Given the description of an element on the screen output the (x, y) to click on. 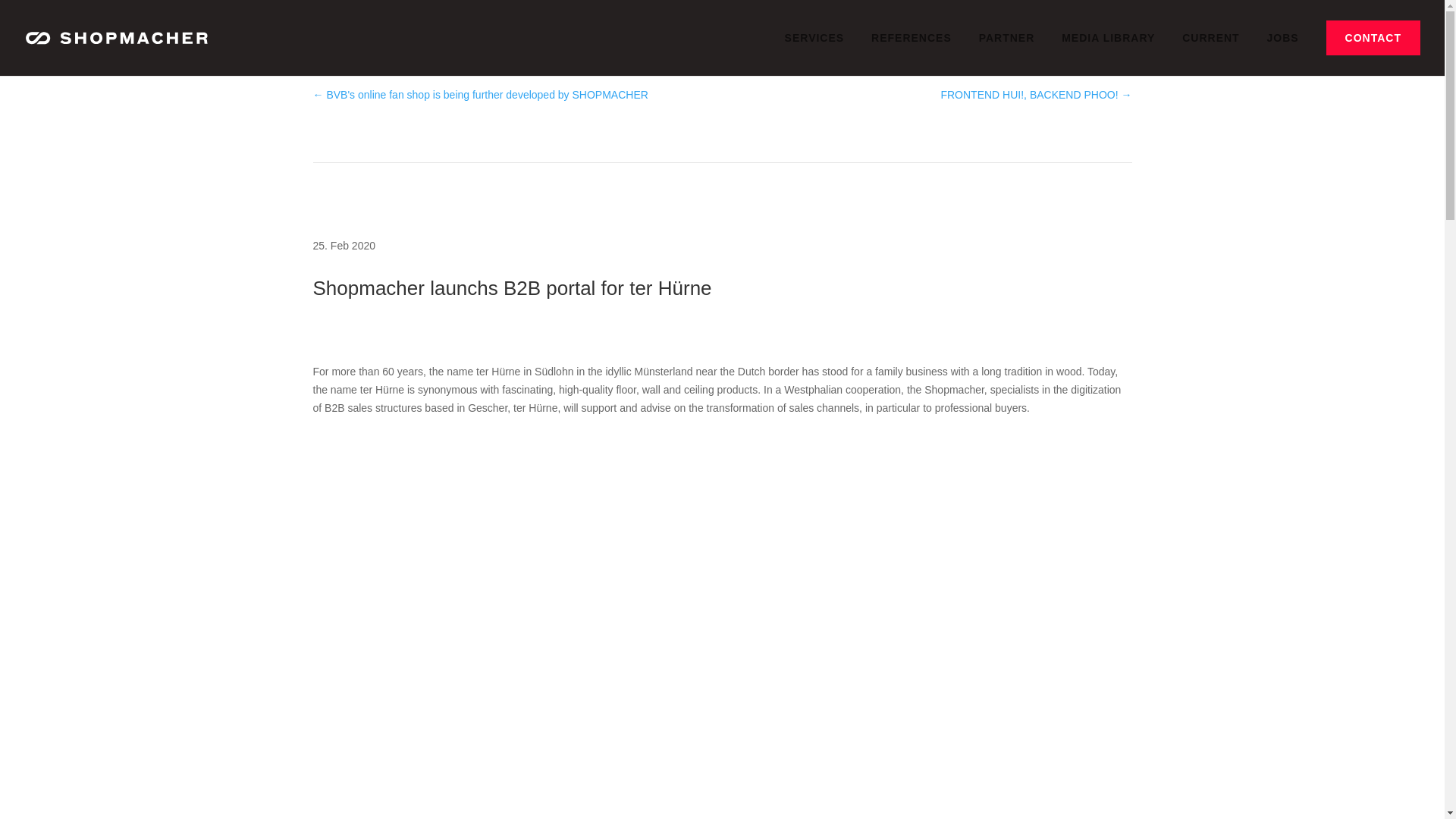
JOBS (1282, 49)
MEDIA LIBRARY (1107, 49)
PARTNER (1006, 49)
REFERENCES (911, 49)
CURRENT (1210, 49)
CONTACT (1373, 37)
SERVICES (814, 49)
